Given the description of an element on the screen output the (x, y) to click on. 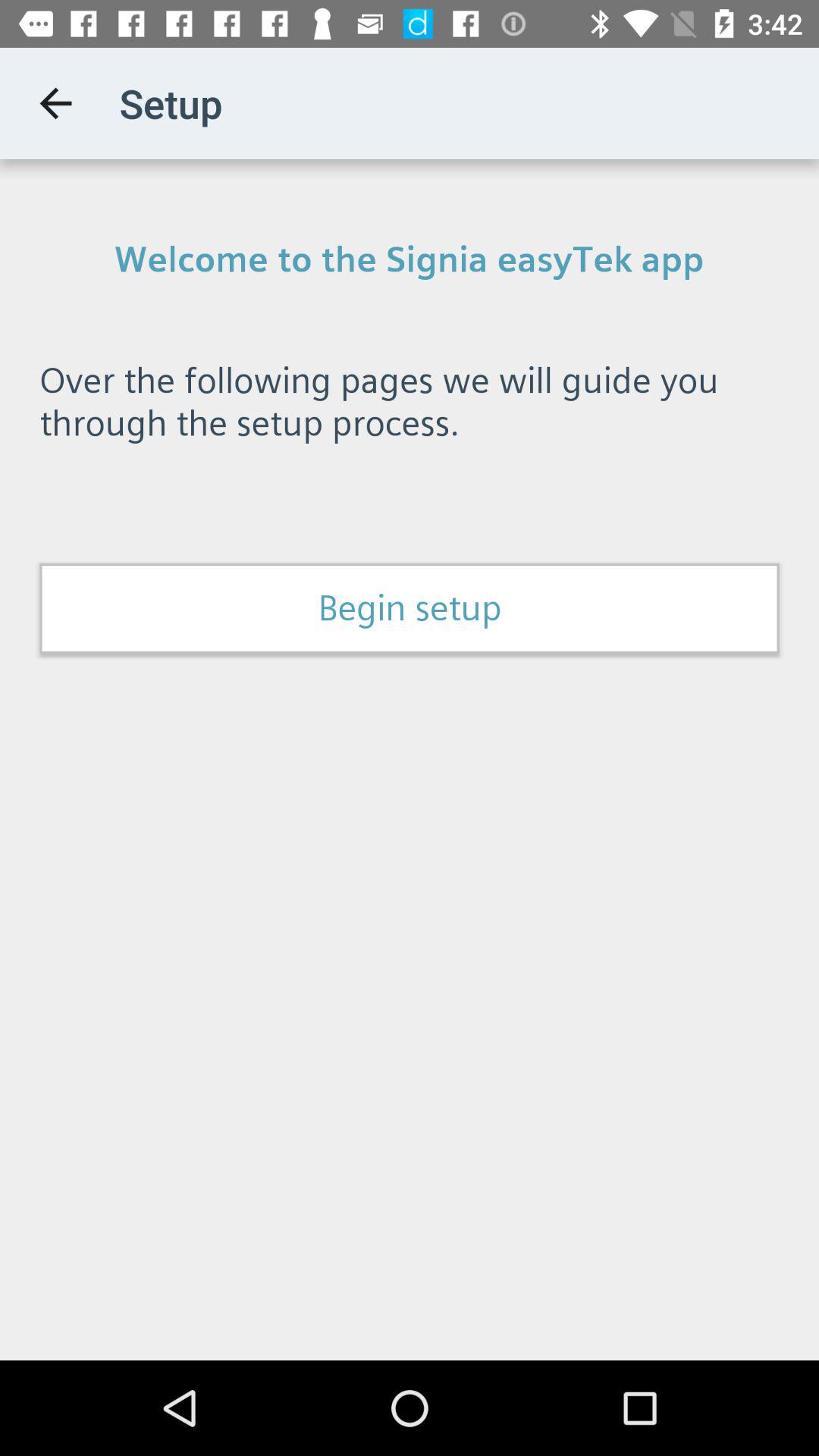
press the item above the welcome to the item (55, 103)
